Given the description of an element on the screen output the (x, y) to click on. 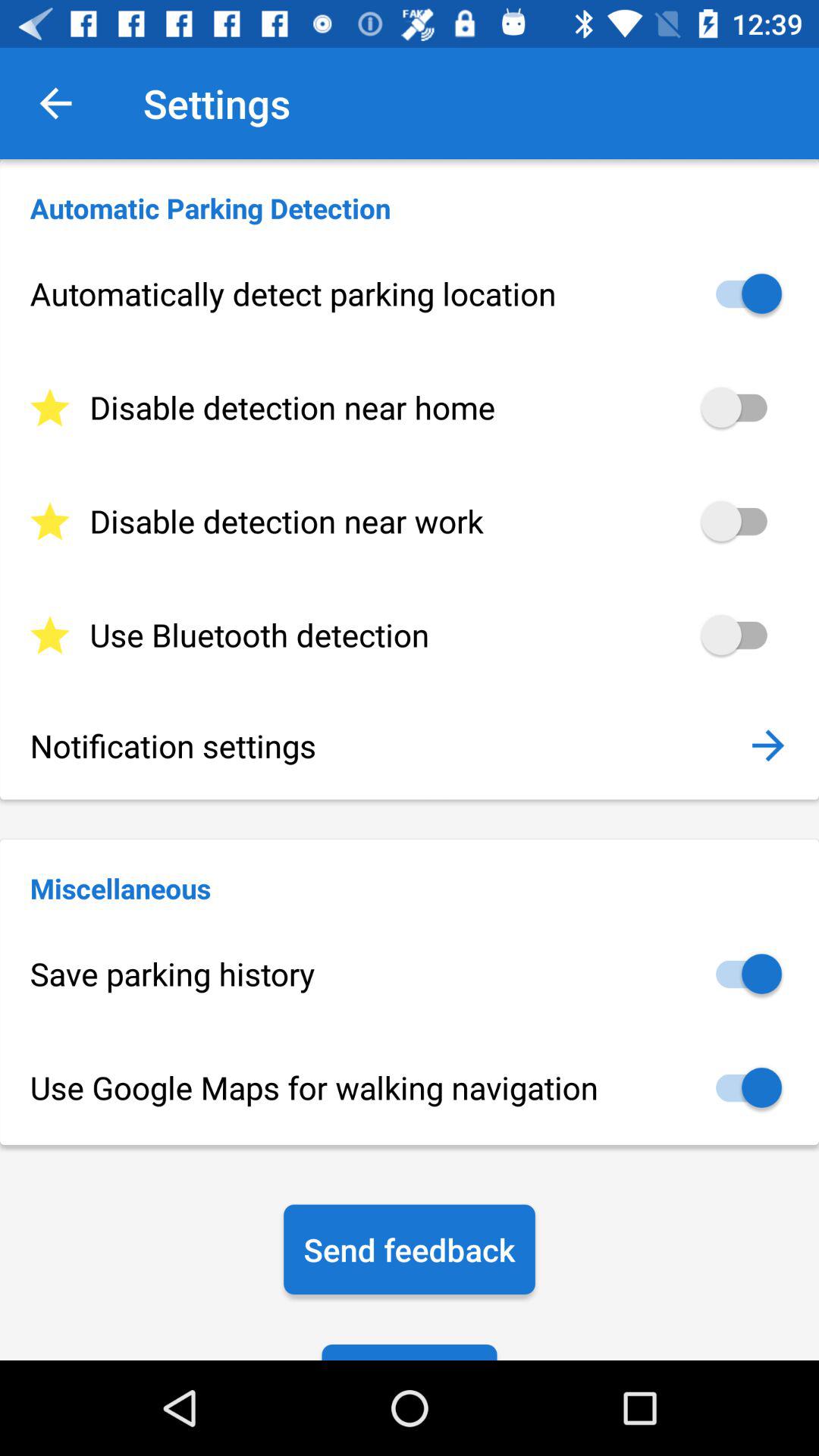
select the icon below the use google maps (409, 1249)
